Given the description of an element on the screen output the (x, y) to click on. 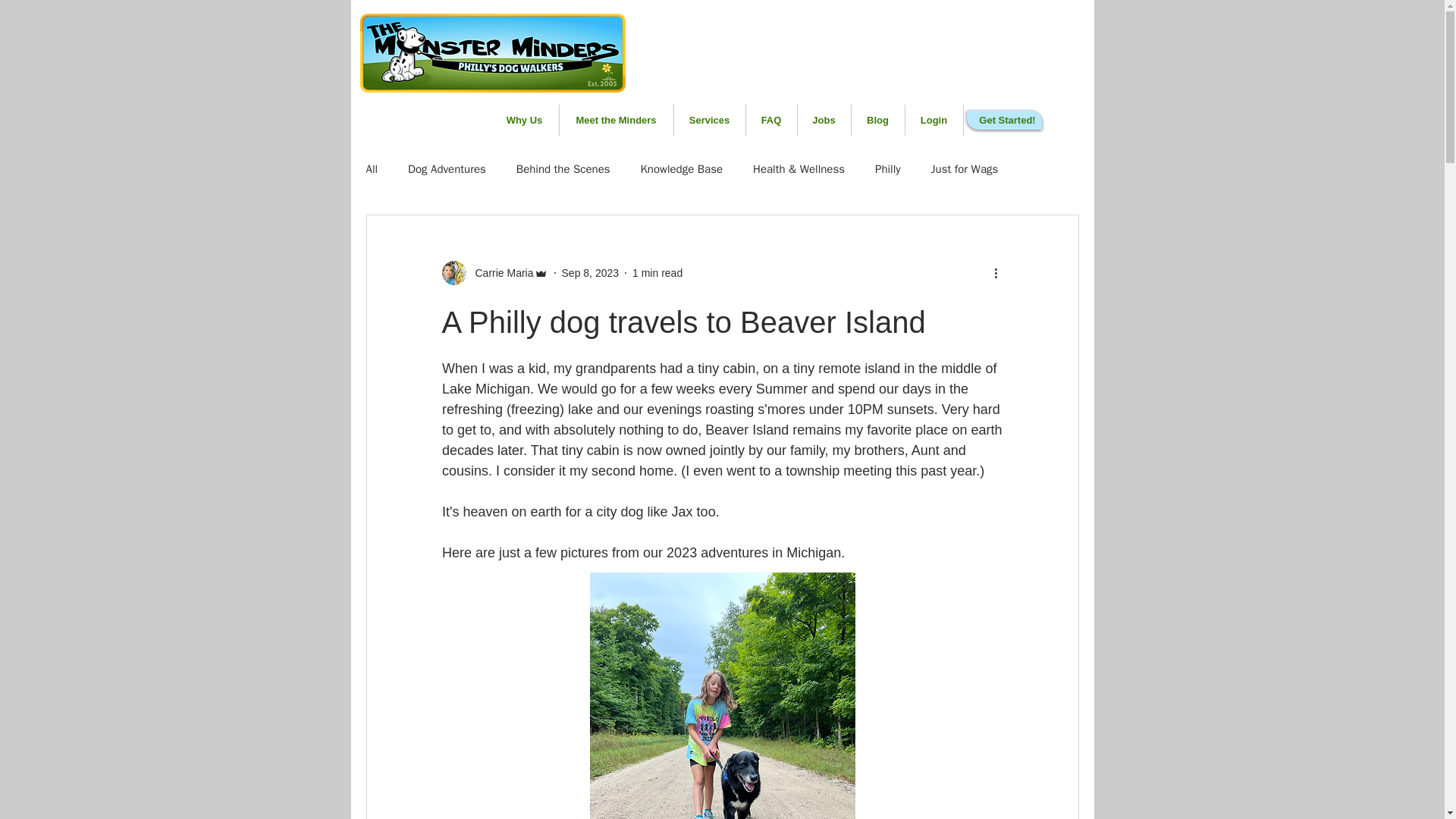
Meet the Minders (615, 119)
Dog Adventures (446, 169)
Jobs (823, 119)
Carrie Maria (498, 273)
Behind the Scenes (563, 169)
Knowledge Base (681, 169)
1 min read (656, 272)
FAQ (770, 119)
Philly (888, 169)
Sep 8, 2023 (591, 272)
Blog (877, 119)
Services (708, 119)
Why Us (523, 119)
Get Started! (1006, 119)
Just for Wags (964, 169)
